Given the description of an element on the screen output the (x, y) to click on. 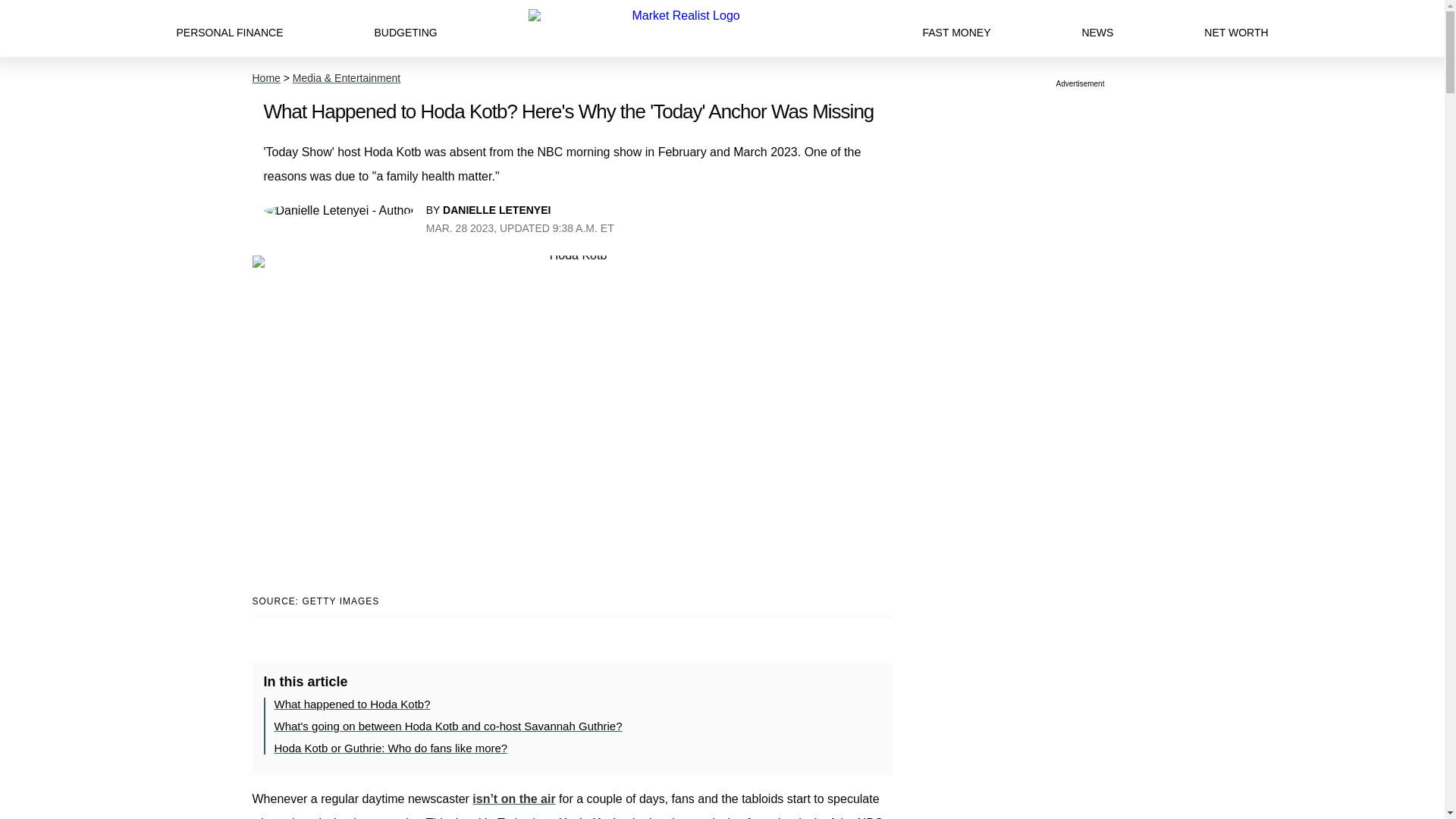
Hoda Kotb (589, 817)
DANIELLE LETENYEI (496, 209)
What happened to Hoda Kotb? (352, 703)
Hoda Kotb or Guthrie: Who do fans like more? (391, 748)
FAST MONEY (955, 27)
NEWS (1097, 27)
BUDGETING (405, 27)
NET WORTH (1236, 27)
Home (265, 78)
PERSONAL FINANCE (229, 27)
